Given the description of an element on the screen output the (x, y) to click on. 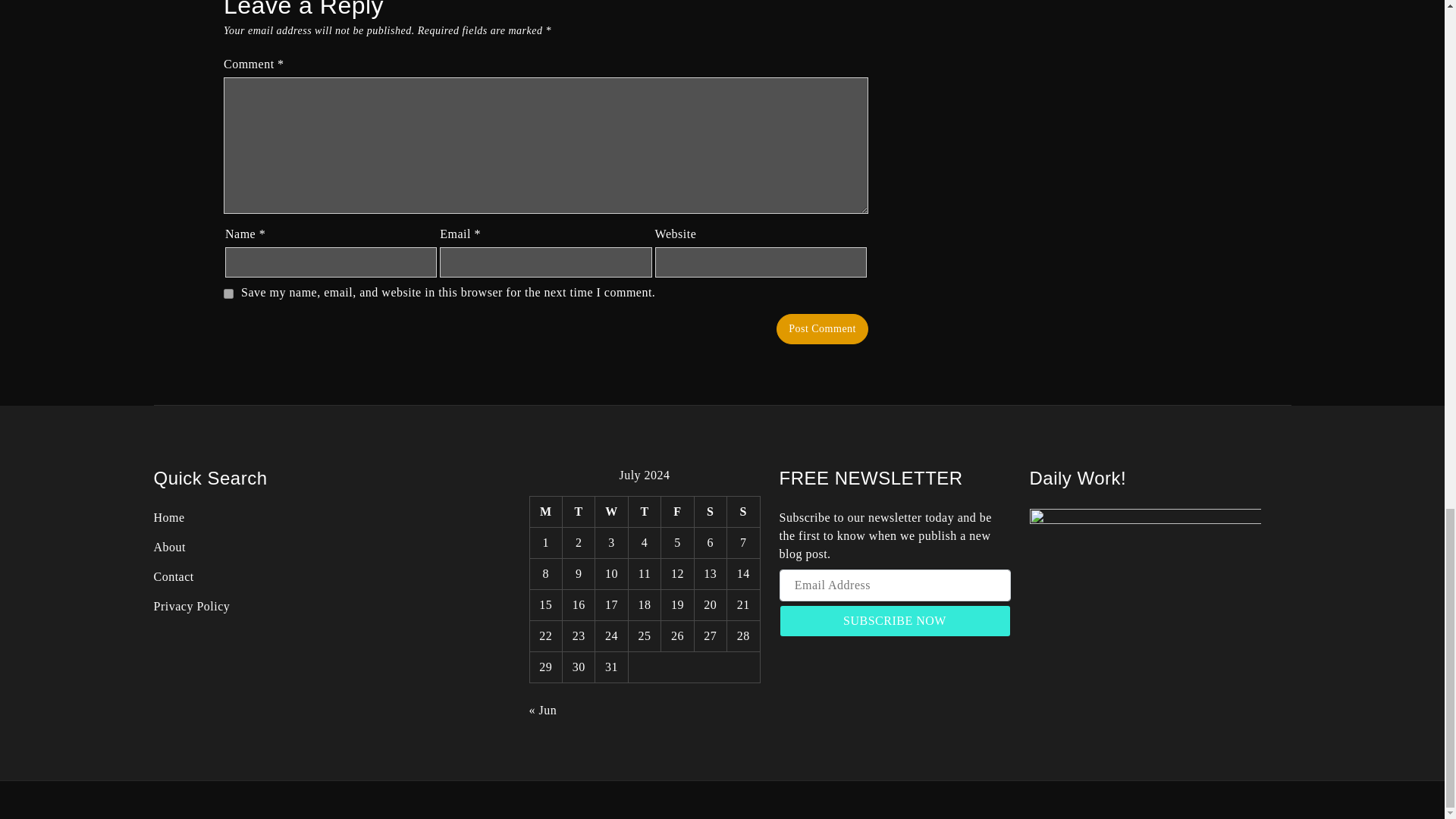
Friday (677, 511)
Post Comment (821, 328)
SUBSCRIBE NOW (894, 621)
Thursday (644, 511)
SUBSCRIBE NOW (894, 621)
Monday (545, 511)
Wednesday (611, 511)
Sunday (743, 511)
Privacy Policy (191, 605)
Post Comment (821, 328)
Home (168, 517)
Tuesday (578, 511)
About (169, 546)
Saturday (710, 511)
Contact (172, 576)
